Given the description of an element on the screen output the (x, y) to click on. 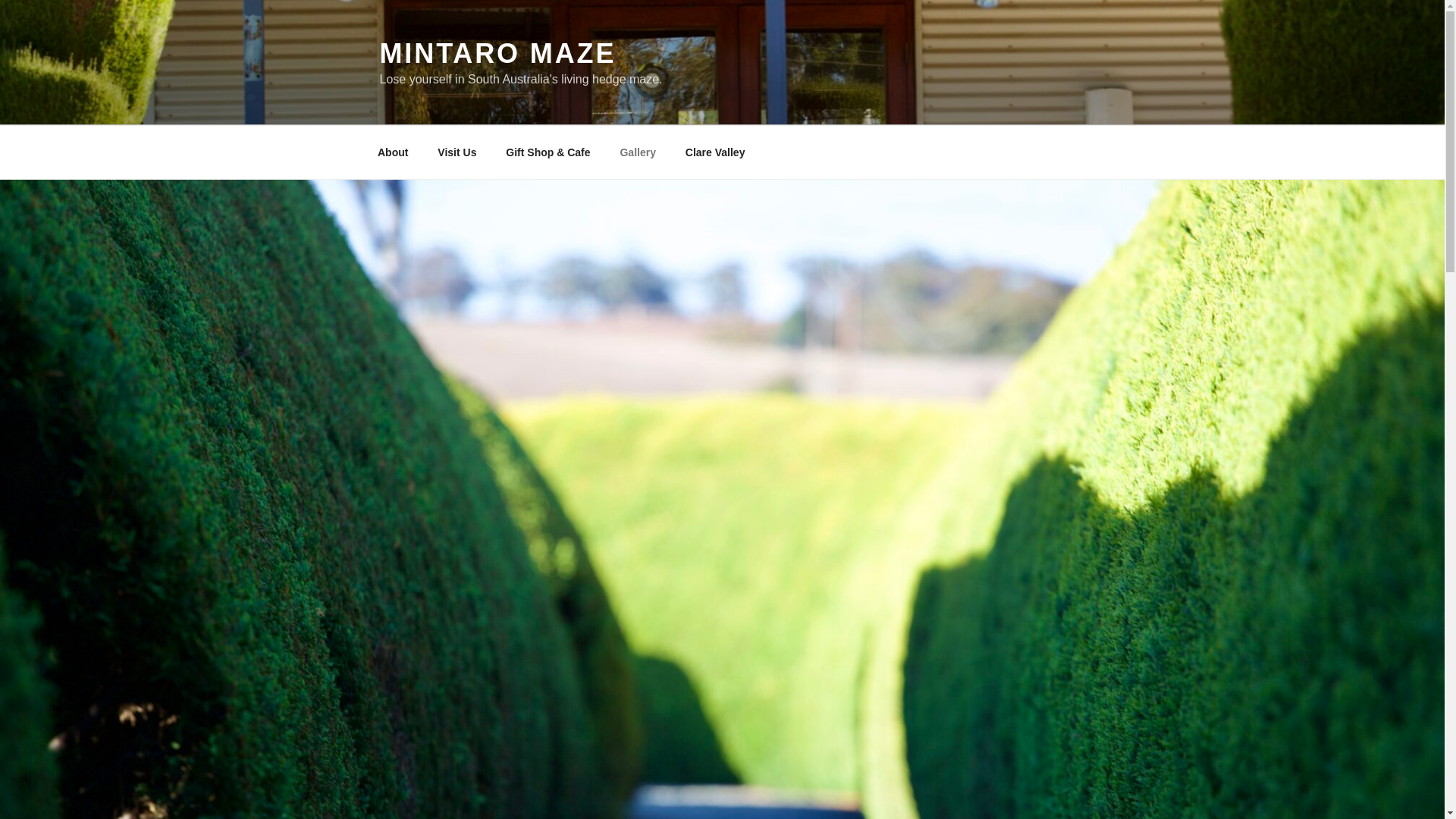
MINTARO MAZE Element type: text (497, 53)
Clare Valley Element type: text (714, 151)
About Element type: text (392, 151)
Gallery Element type: text (637, 151)
Visit Us Element type: text (456, 151)
Gift Shop & Cafe Element type: text (547, 151)
